Given the description of an element on the screen output the (x, y) to click on. 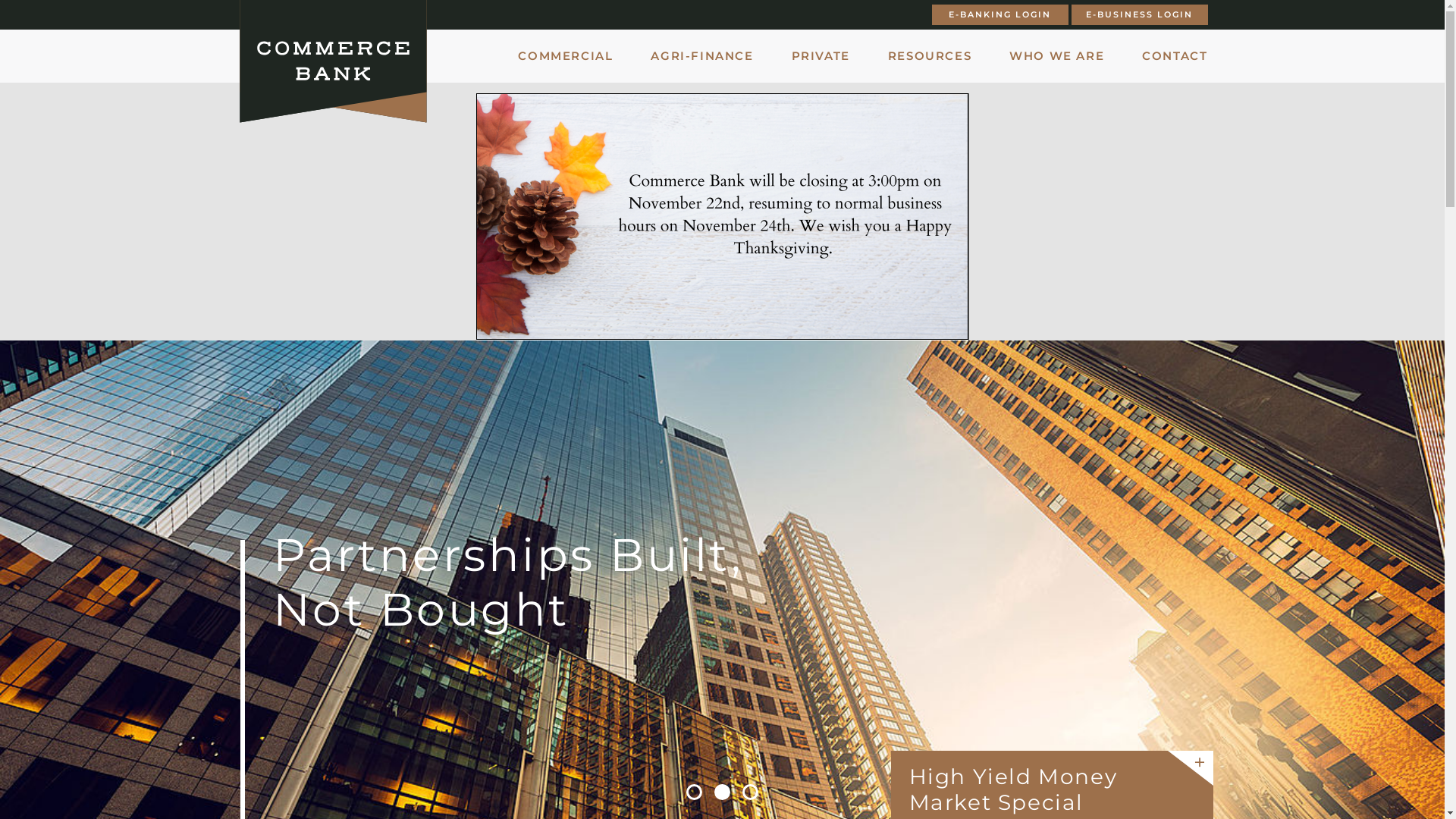
CONTACT Element type: text (1174, 55)
E-BUSINESS LOGIN Element type: text (1138, 14)
1 Element type: text (694, 792)
2 Element type: text (722, 792)
PRIVATE Element type: text (820, 55)
AGRI-FINANCE Element type: text (701, 55)
WHO WE ARE Element type: text (1056, 55)
3 Element type: text (750, 792)
COMMERCIAL Element type: text (564, 55)
E-BANKING LOGIN Element type: text (999, 14)
RESOURCES Element type: text (929, 55)
